Given the description of an element on the screen output the (x, y) to click on. 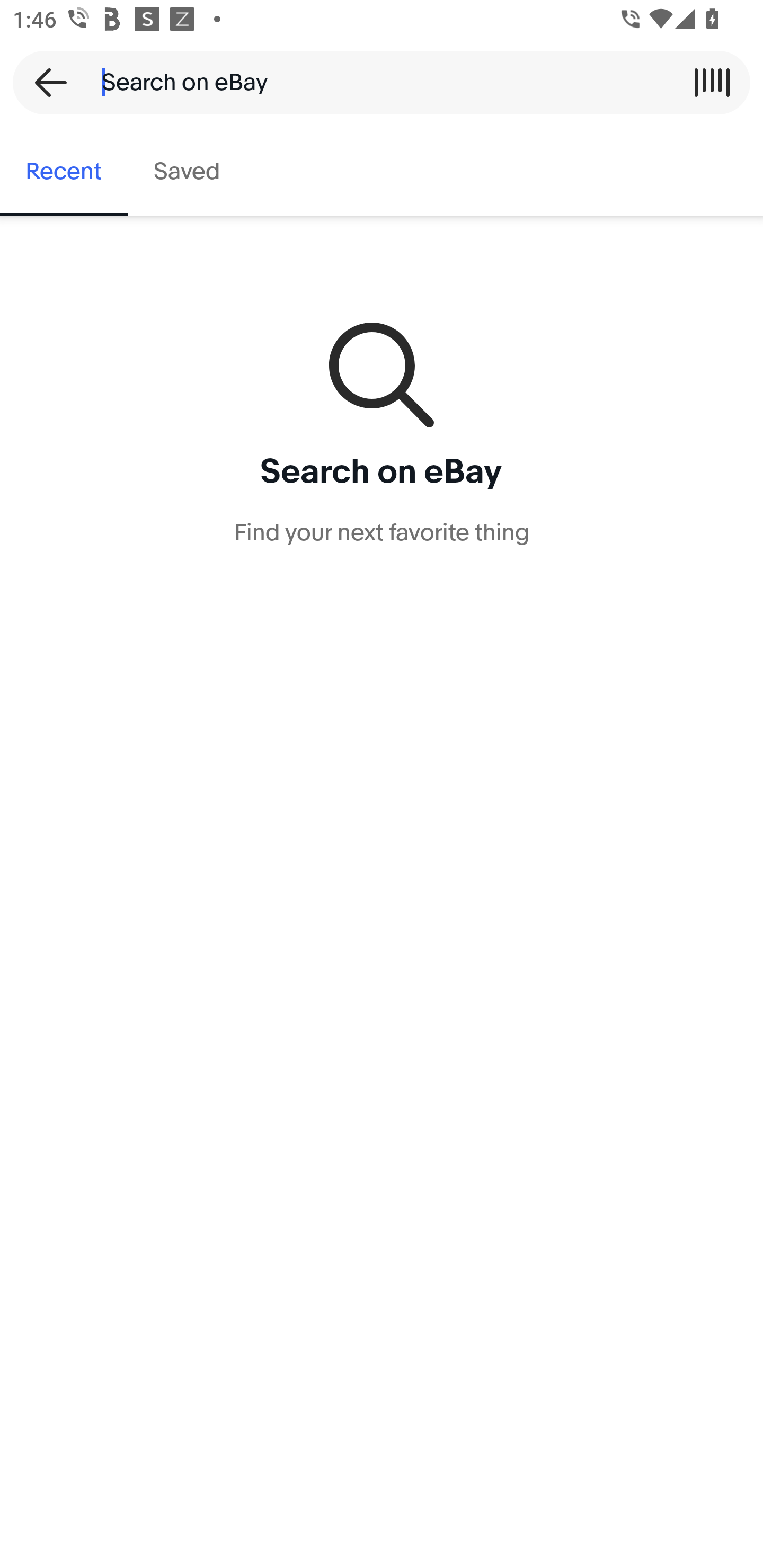
Back (44, 82)
Scan a barcode (711, 82)
Search on eBay (375, 82)
Saved, tab 2 of 2 Saved (186, 171)
